Given the description of an element on the screen output the (x, y) to click on. 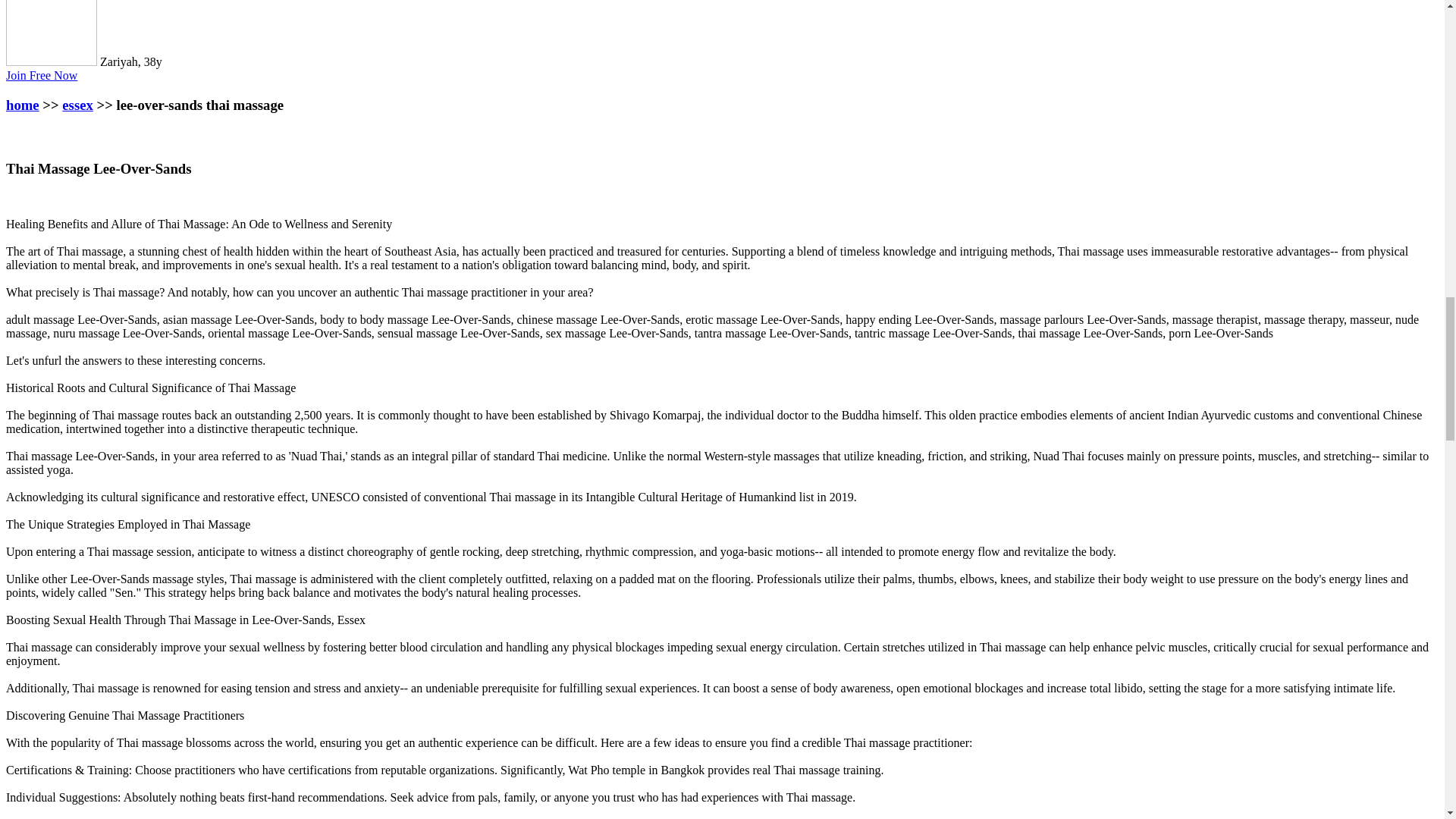
home (22, 105)
essex (77, 105)
Join (41, 74)
Join Free Now (41, 74)
